Given the description of an element on the screen output the (x, y) to click on. 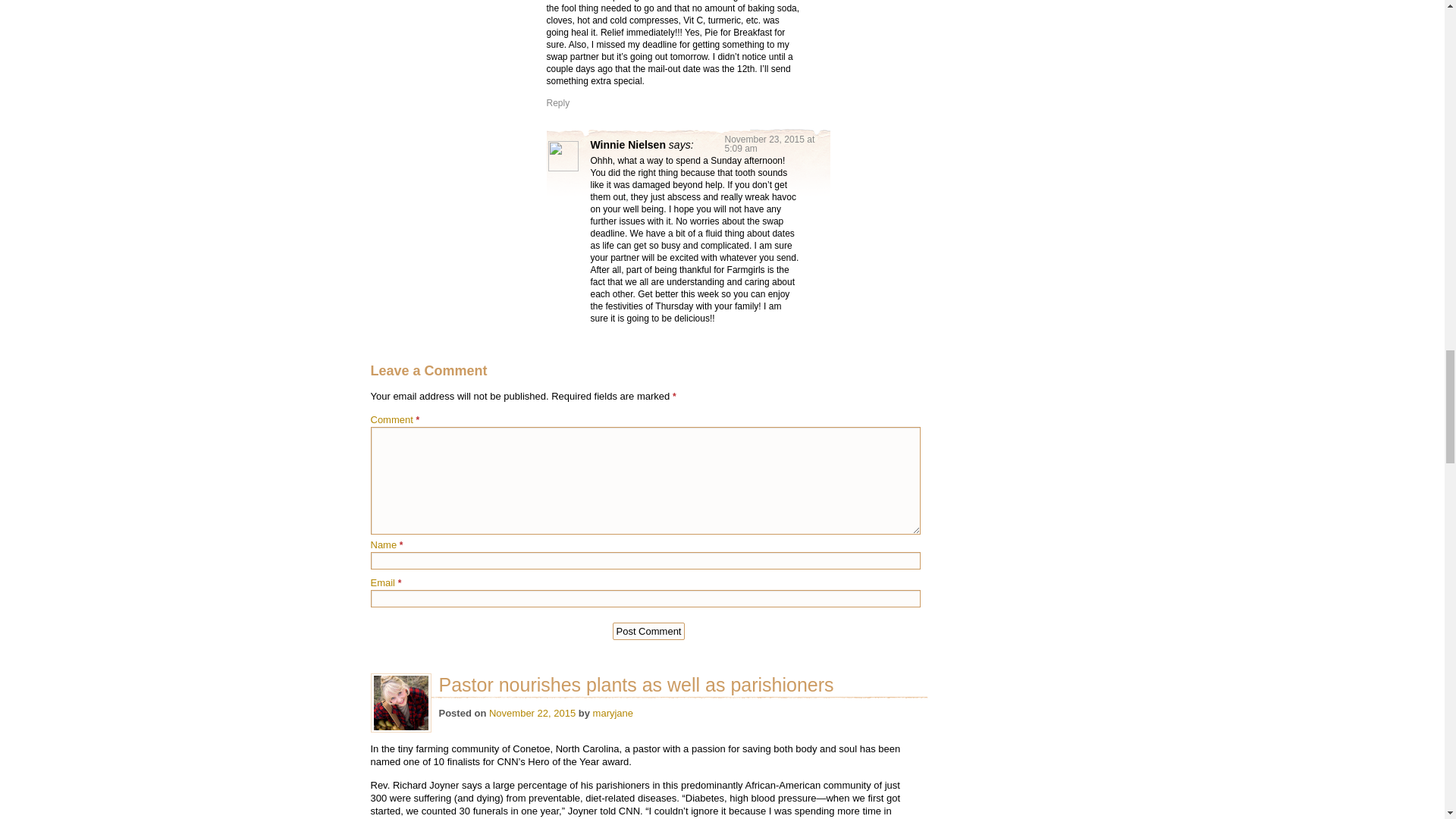
View all posts by maryjane (612, 713)
Reply (557, 102)
Post Comment (648, 630)
Post Comment (648, 630)
12:09 am (532, 713)
November 23, 2015 at 5:09 am (770, 143)
